Given the description of an element on the screen output the (x, y) to click on. 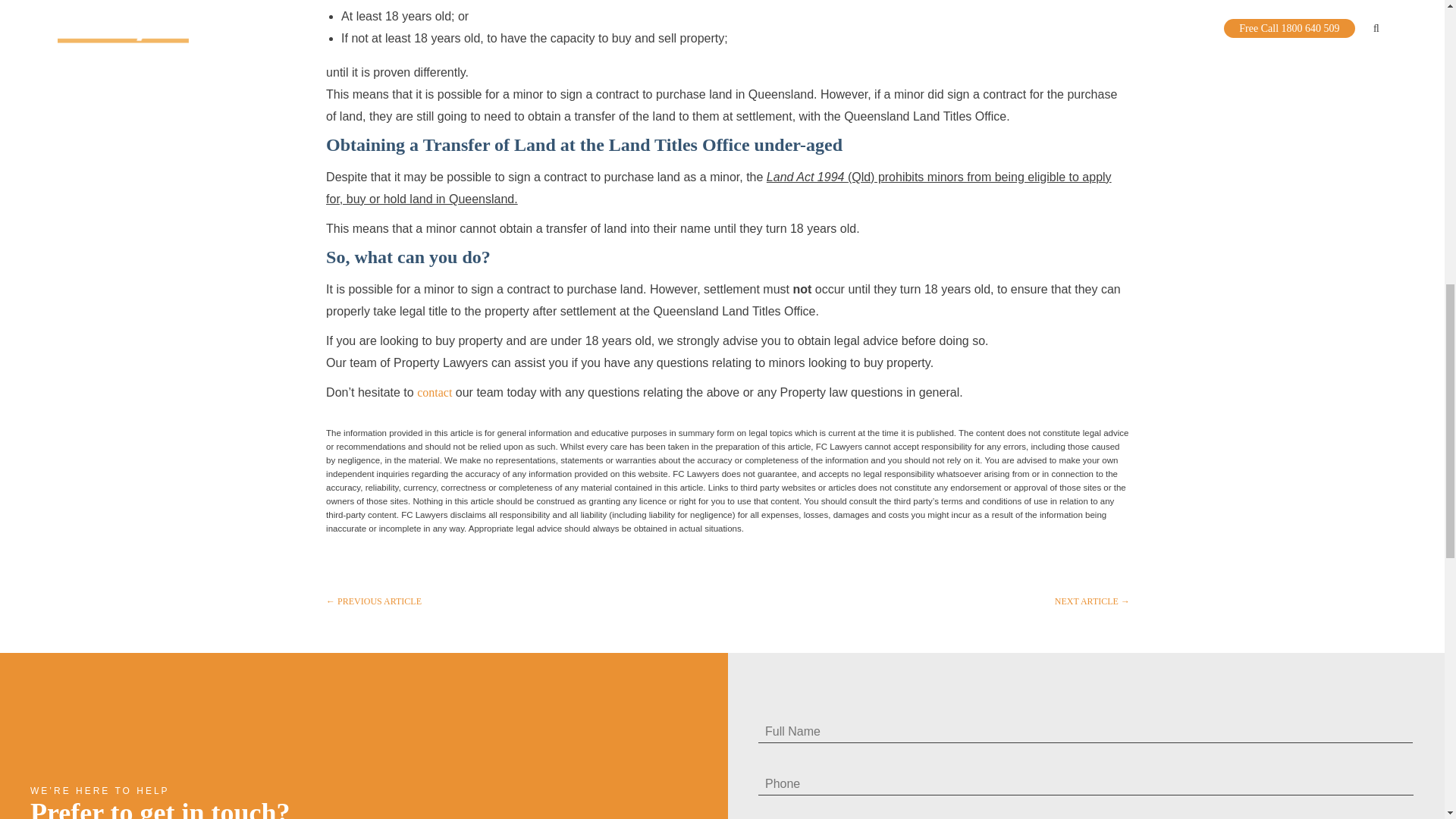
contact (433, 391)
